Given the description of an element on the screen output the (x, y) to click on. 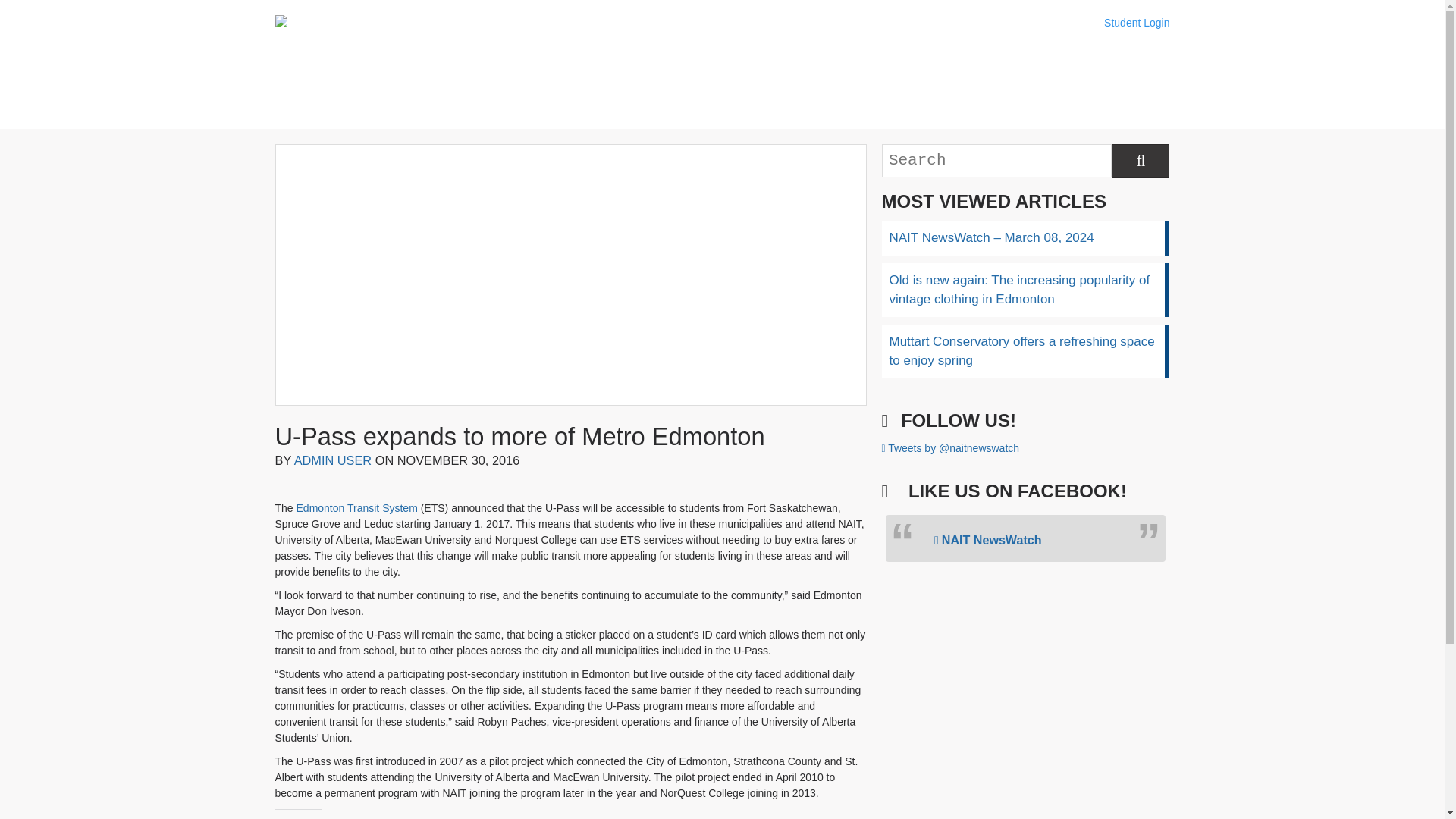
Archive (968, 68)
Student Login (1136, 23)
Recipes (778, 68)
Second Edition (684, 68)
Edmonton Transit System (357, 508)
NAIT NewsWatch (988, 540)
News (496, 68)
ADMIN USER (333, 459)
Blogs (590, 68)
Personalities (874, 68)
